Given the description of an element on the screen output the (x, y) to click on. 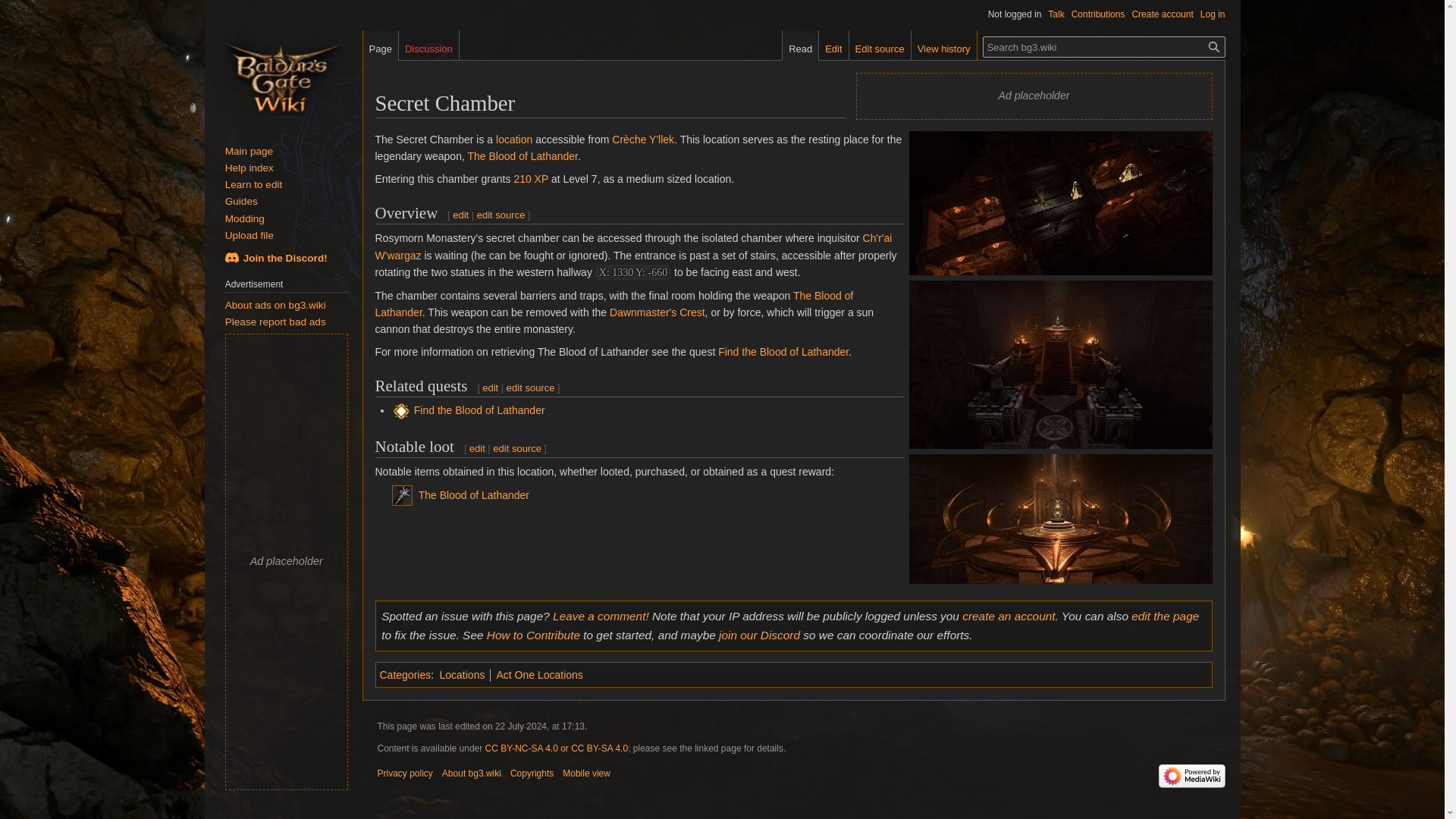
Discussion (428, 45)
Edit section: Related quests (530, 387)
Ch'r'ai W'wargaz (632, 246)
Edit section: Overview (460, 214)
The Blood of Lathander (522, 155)
edit (489, 387)
Locations (461, 674)
Ch'r'ai W'wargaz (632, 246)
Categories (404, 674)
The Blood of Lathander (613, 303)
